Given the description of an element on the screen output the (x, y) to click on. 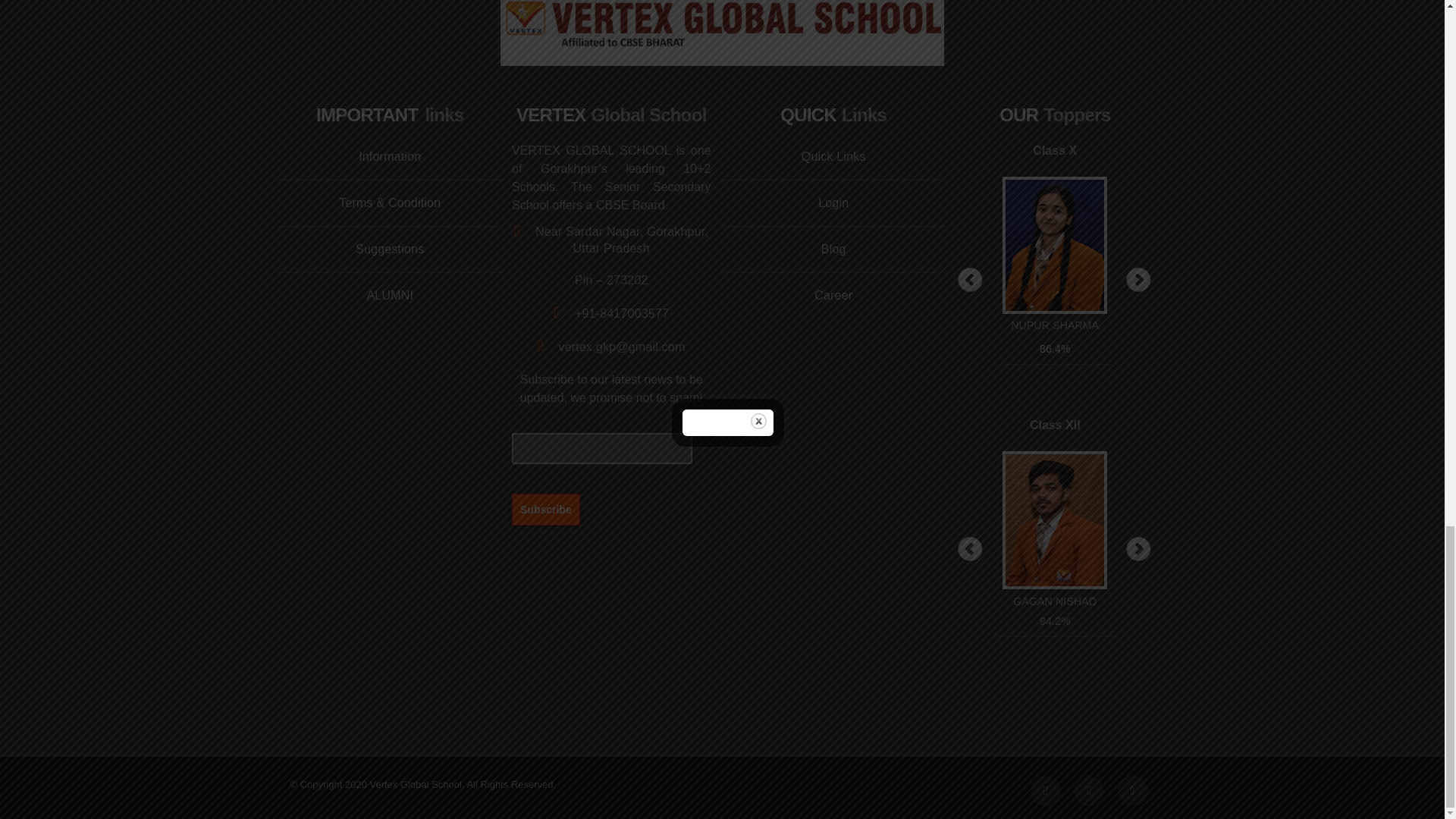
Subscribe (545, 508)
